Given the description of an element on the screen output the (x, y) to click on. 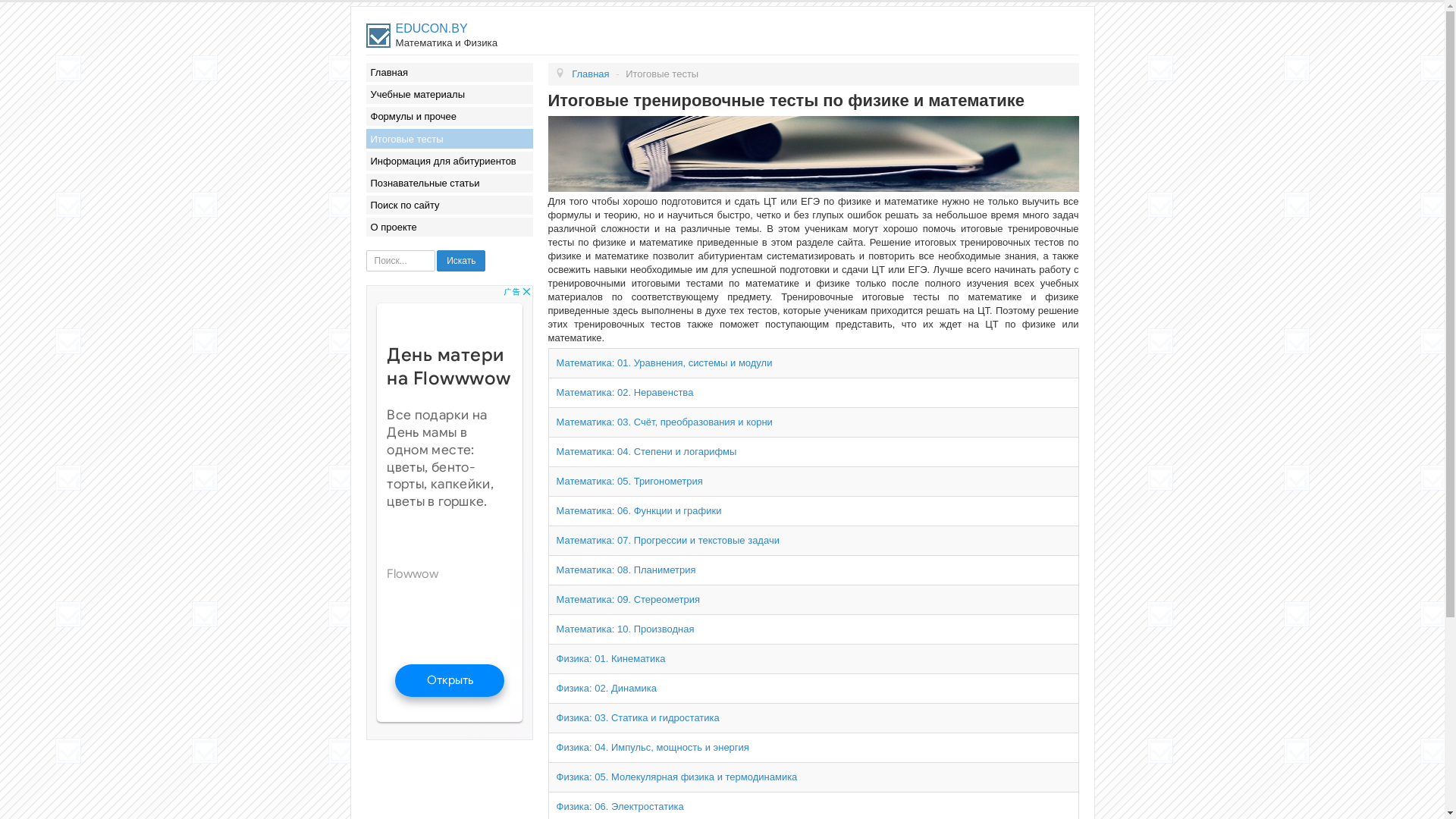
Advertisement Element type: hover (448, 512)
EDUCON.BY Element type: text (431, 27)
